Given the description of an element on the screen output the (x, y) to click on. 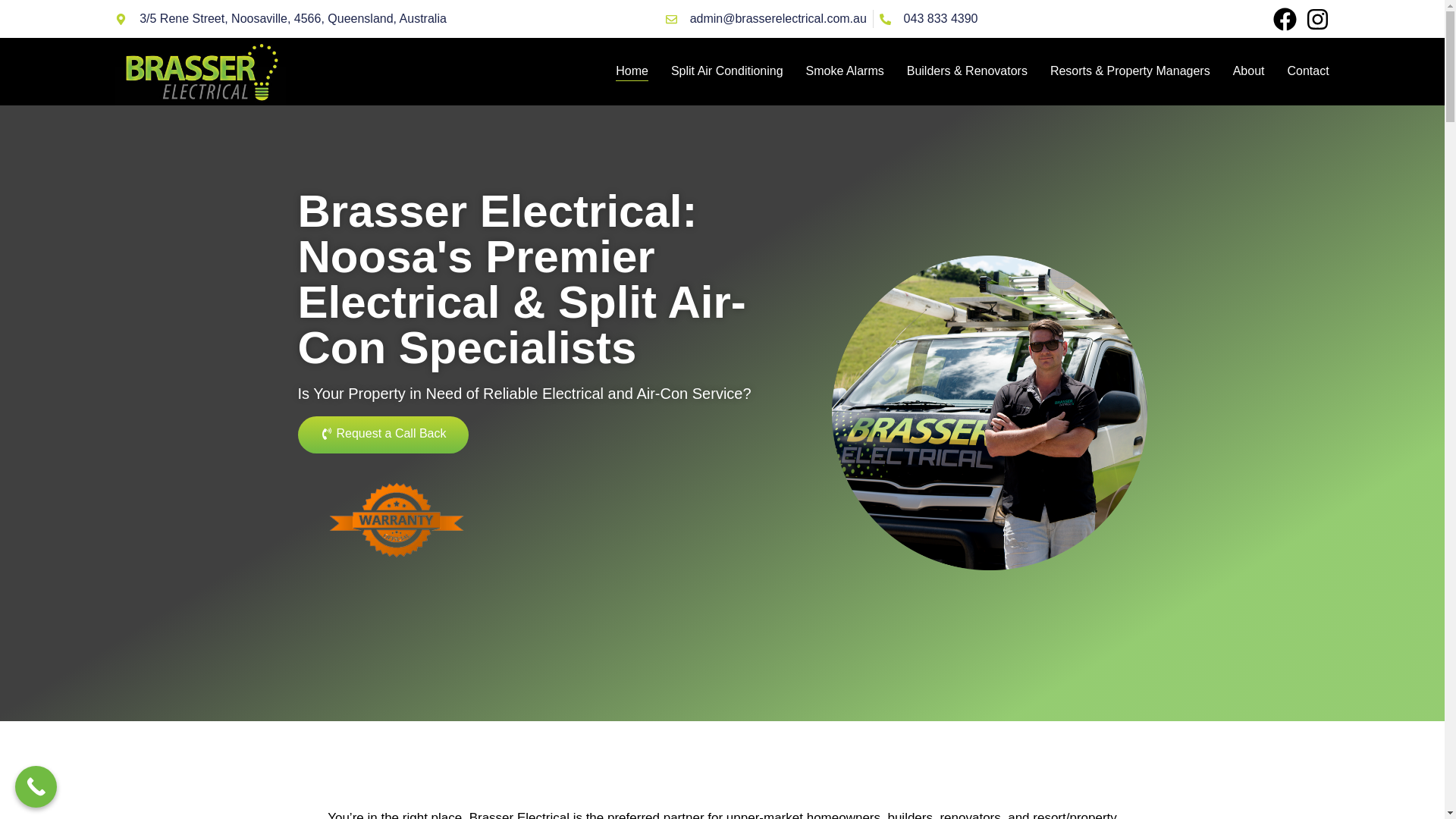
Home (631, 71)
Split Air Conditioning (727, 71)
043 833 4390 (928, 18)
Smoke Alarms (844, 71)
About (1249, 71)
Request a Call Back (382, 434)
Contact (1307, 71)
